Given the description of an element on the screen output the (x, y) to click on. 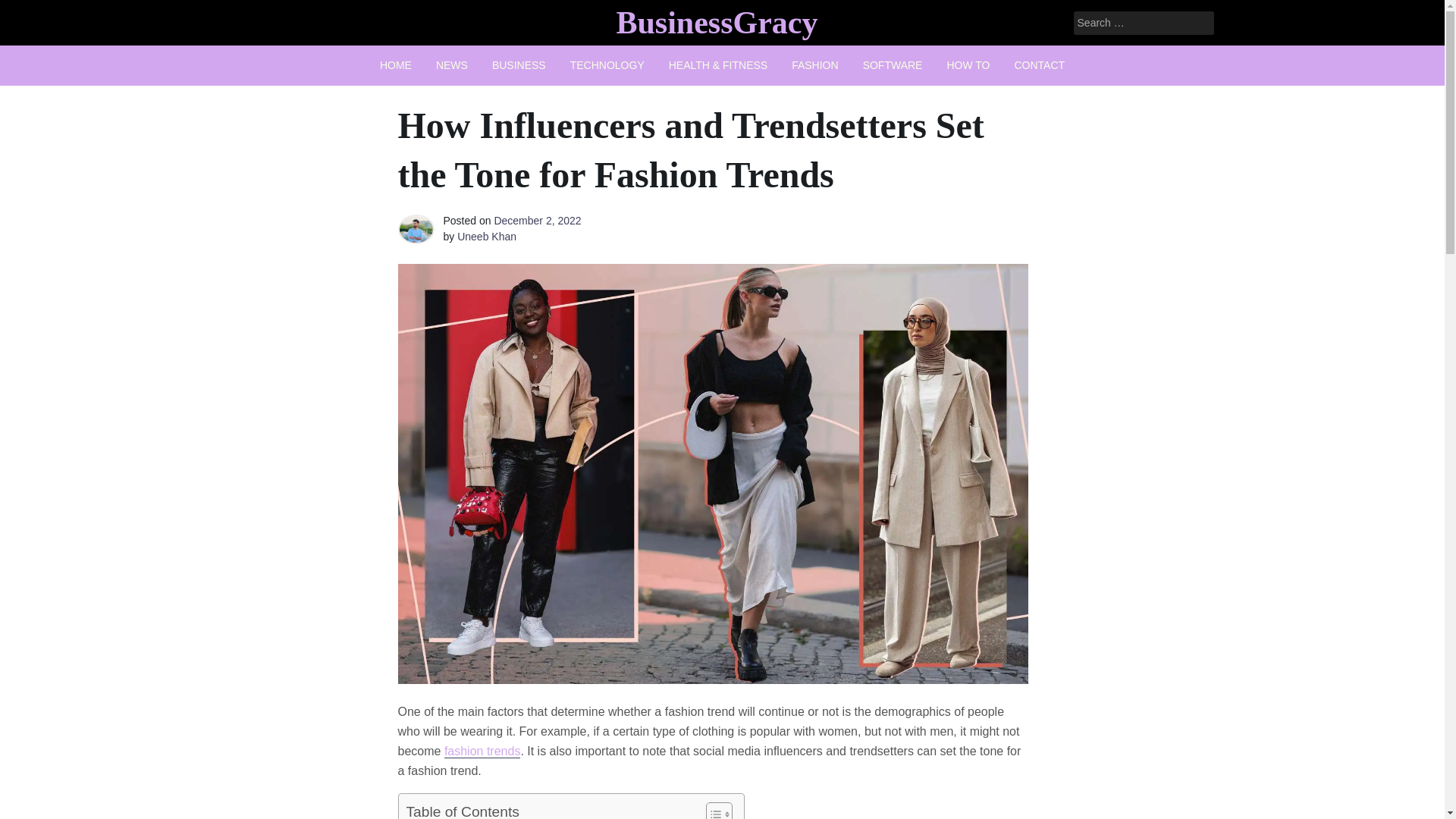
NEWS (451, 65)
HOME (395, 65)
TECHNOLOGY (606, 65)
December 2, 2022 (536, 220)
Search (32, 12)
BUSINESS (518, 65)
fashion trends (482, 751)
BusinessGracy (715, 22)
Uneeb Khan (486, 236)
FASHION (814, 65)
